Given the description of an element on the screen output the (x, y) to click on. 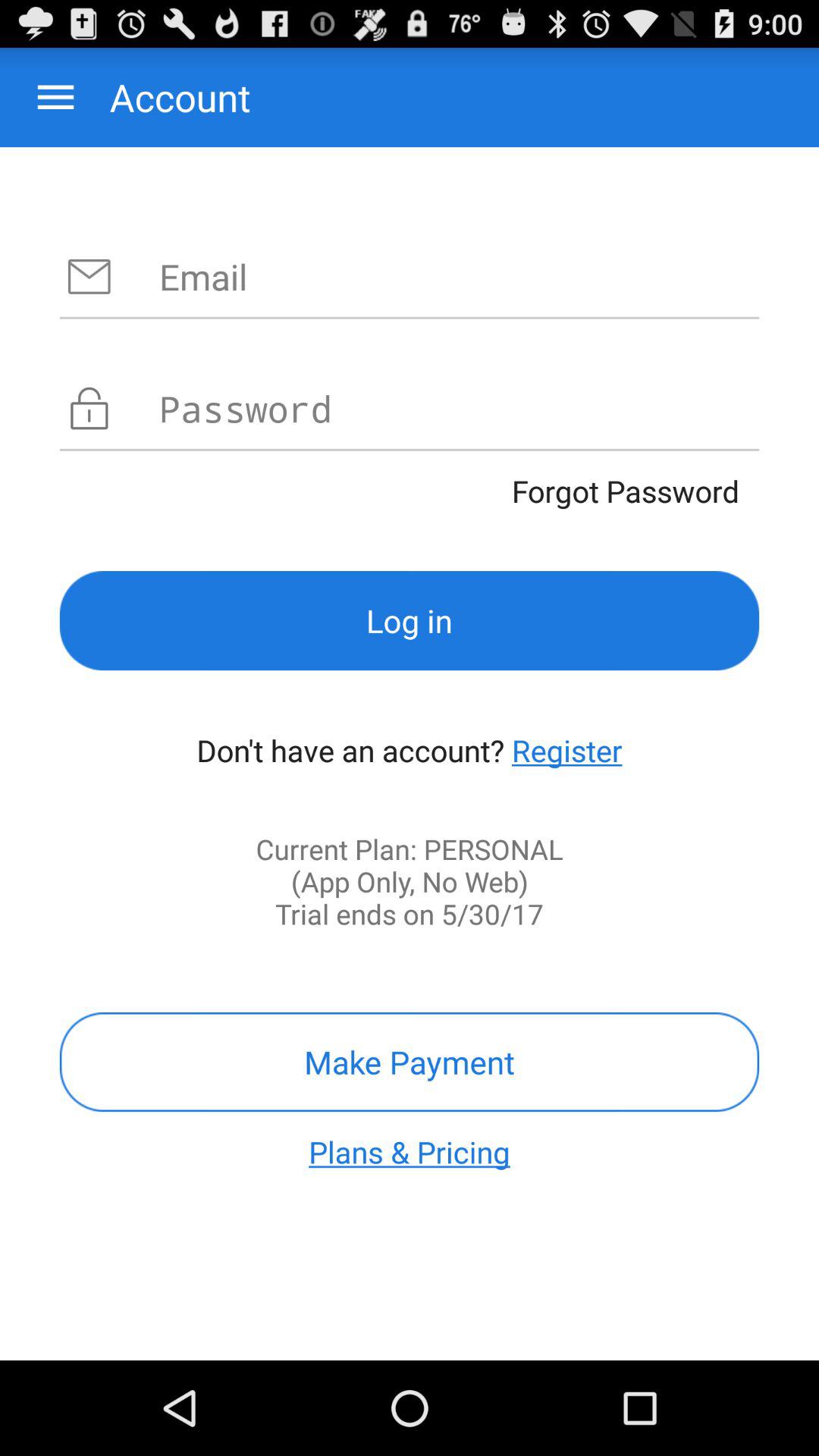
press item below the forgot password app (409, 620)
